Given the description of an element on the screen output the (x, y) to click on. 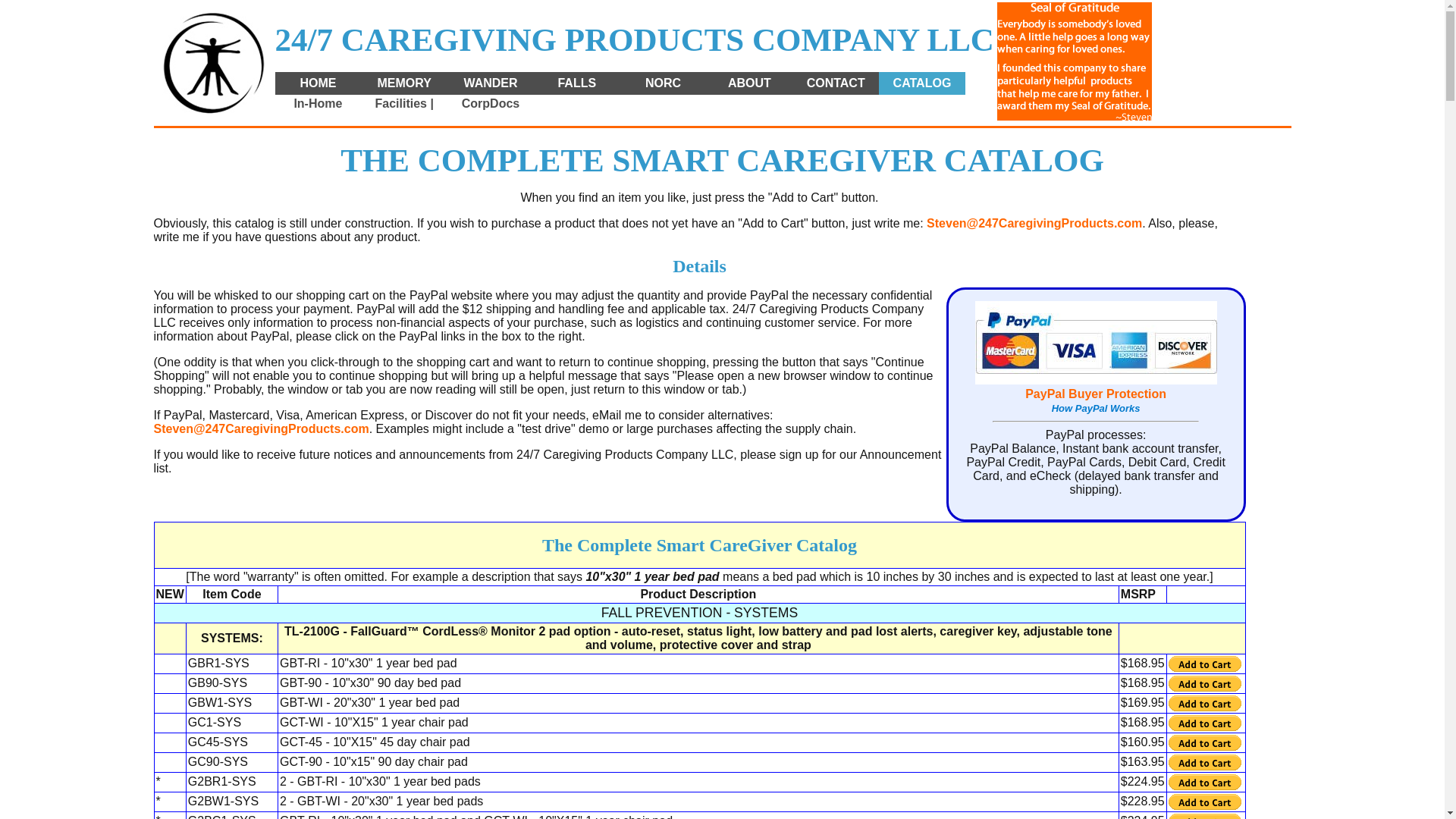
FALLS Element type: text (576, 83)
MEMORY Element type: text (403, 83)
NORC Element type: text (663, 83)
Steven@247CaregivingProducts.com Element type: text (1034, 222)
CATALOG Element type: text (921, 83)
In-Home Element type: text (317, 103)
PayPal Buyer Protection Element type: text (1095, 393)
ABOUT Element type: text (749, 83)
How PayPal Works Element type: text (1095, 407)
HOME Element type: text (317, 83)
Steven@247CaregivingProducts.com Element type: text (260, 428)
CorpDocs Element type: text (490, 103)
How PayPal Works Element type: hover (1096, 379)
Facilities | Element type: text (403, 103)
CONTACT Element type: text (835, 83)
WANDER Element type: text (490, 83)
